Given the description of an element on the screen output the (x, y) to click on. 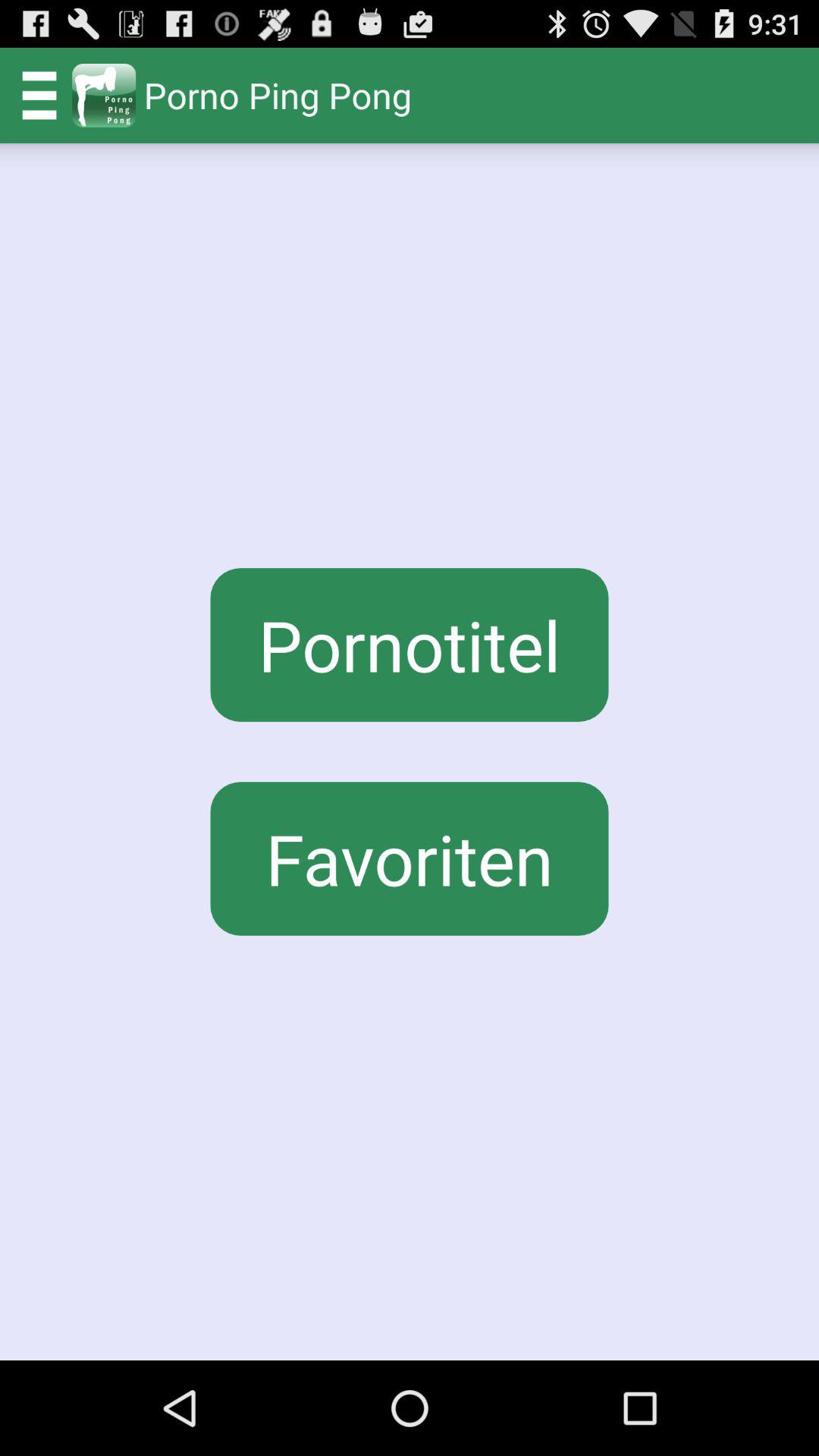
turn on button above favoriten icon (409, 644)
